Given the description of an element on the screen output the (x, y) to click on. 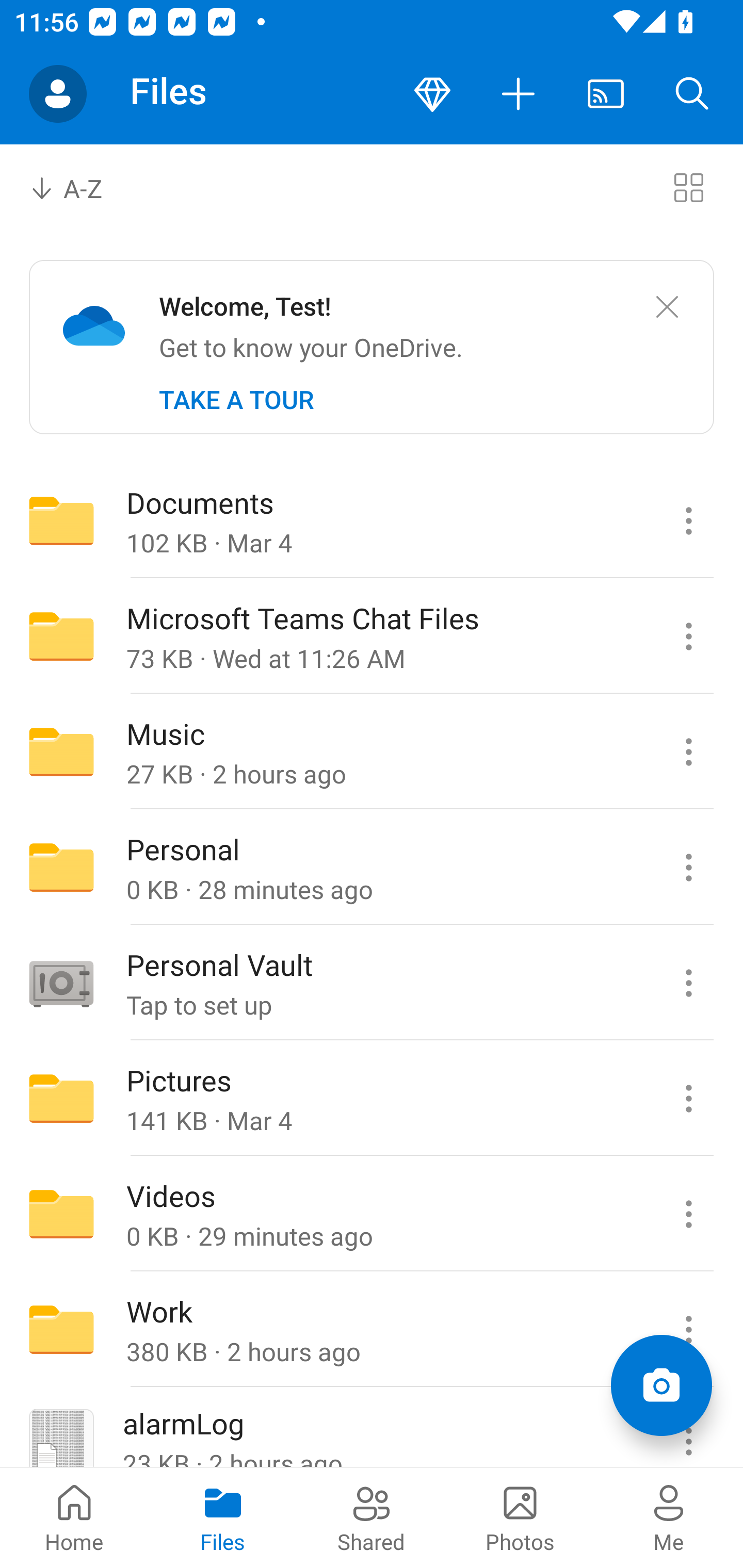
Account switcher (57, 93)
Cast. Disconnected (605, 93)
Premium button (432, 93)
More actions button (518, 93)
Search button (692, 93)
A-Z Sort by combo box, sort by name, A to Z (80, 187)
Switch to tiles view (688, 187)
Close (667, 307)
TAKE A TOUR (236, 399)
Folder Documents 102 KB · Mar 4 Documents commands (371, 520)
Documents commands (688, 520)
Microsoft Teams Chat Files commands (688, 636)
Folder Music 27 KB · 2 hours ago Music commands (371, 751)
Music commands (688, 751)
Personal commands (688, 867)
Personal Vault commands (688, 983)
Folder Pictures 141 KB · Mar 4 Pictures commands (371, 1099)
Pictures commands (688, 1099)
Videos commands (688, 1214)
Folder Work 380 KB · 2 hours ago Work commands (371, 1329)
Work commands (688, 1329)
Add items Scan (660, 1385)
alarmLog commands (688, 1427)
Home pivot Home (74, 1517)
Shared pivot Shared (371, 1517)
Photos pivot Photos (519, 1517)
Me pivot Me (668, 1517)
